Given the description of an element on the screen output the (x, y) to click on. 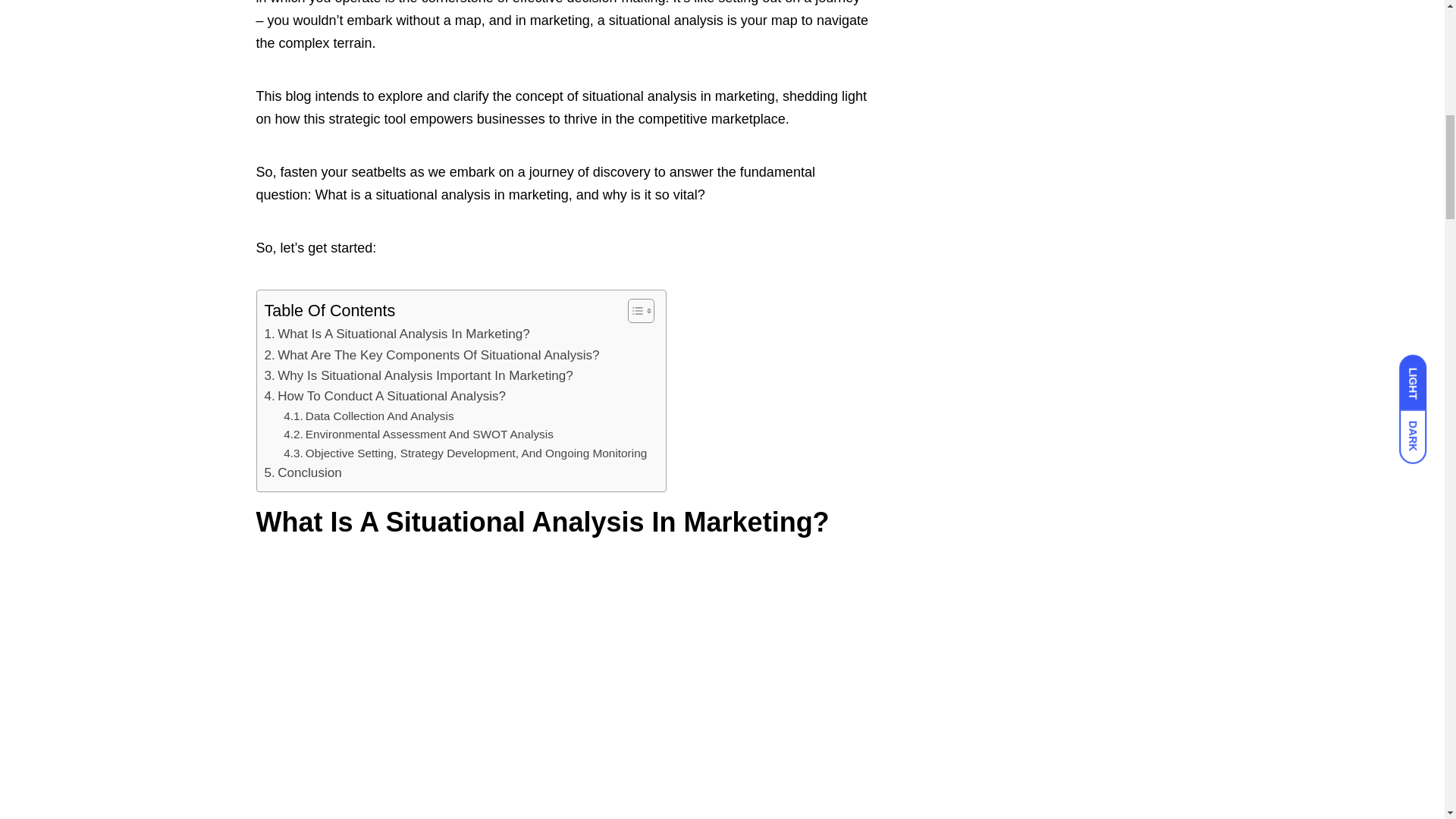
What Are The Key Components Of Situational Analysis? (430, 354)
Why Is Situational Analysis Important In Marketing? (417, 375)
Data Collection And Analysis (367, 416)
Environmental Assessment And SWOT Analysis (418, 434)
How To Conduct A Situational Analysis? (384, 395)
What Is A Situational Analysis In Marketing? (396, 333)
